Given the description of an element on the screen output the (x, y) to click on. 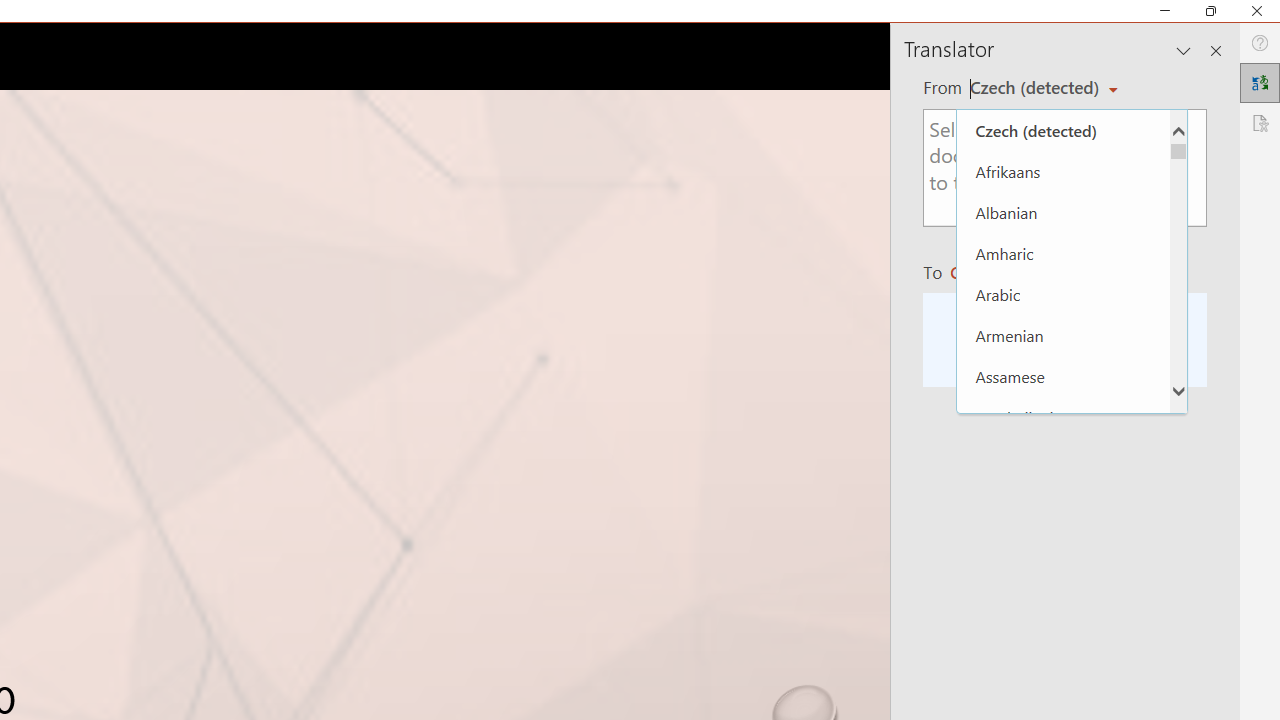
Amharic (1063, 253)
Czech (991, 272)
Armenian (1063, 335)
Bodo (1063, 621)
Afrikaans (1063, 171)
Azerbaijani (1063, 416)
Czech (detected) (1063, 130)
Assamese (1063, 375)
Arabic (1063, 294)
